Given the description of an element on the screen output the (x, y) to click on. 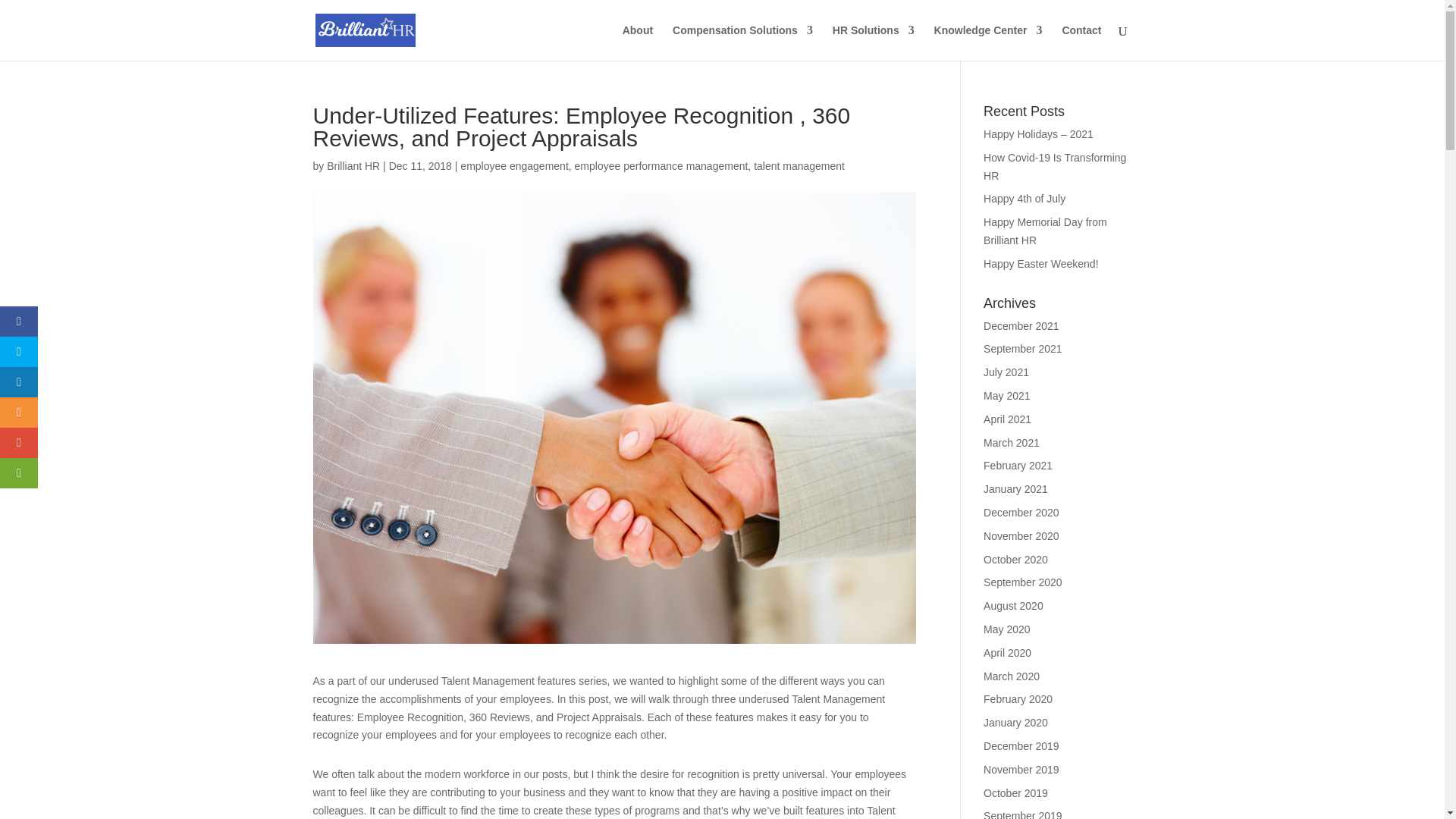
January 2021 (1016, 489)
Posts by Brilliant HR (353, 165)
How Covid-19 Is Transforming HR (1054, 166)
employee engagement (513, 165)
May 2021 (1006, 395)
December 2021 (1021, 326)
Happy Memorial Day from Brilliant HR (1045, 231)
Contact (1080, 42)
April 2021 (1007, 419)
February 2021 (1018, 465)
September 2021 (1023, 348)
talent management (799, 165)
Knowledge Center (988, 42)
employee performance management (661, 165)
March 2021 (1011, 442)
